Given the description of an element on the screen output the (x, y) to click on. 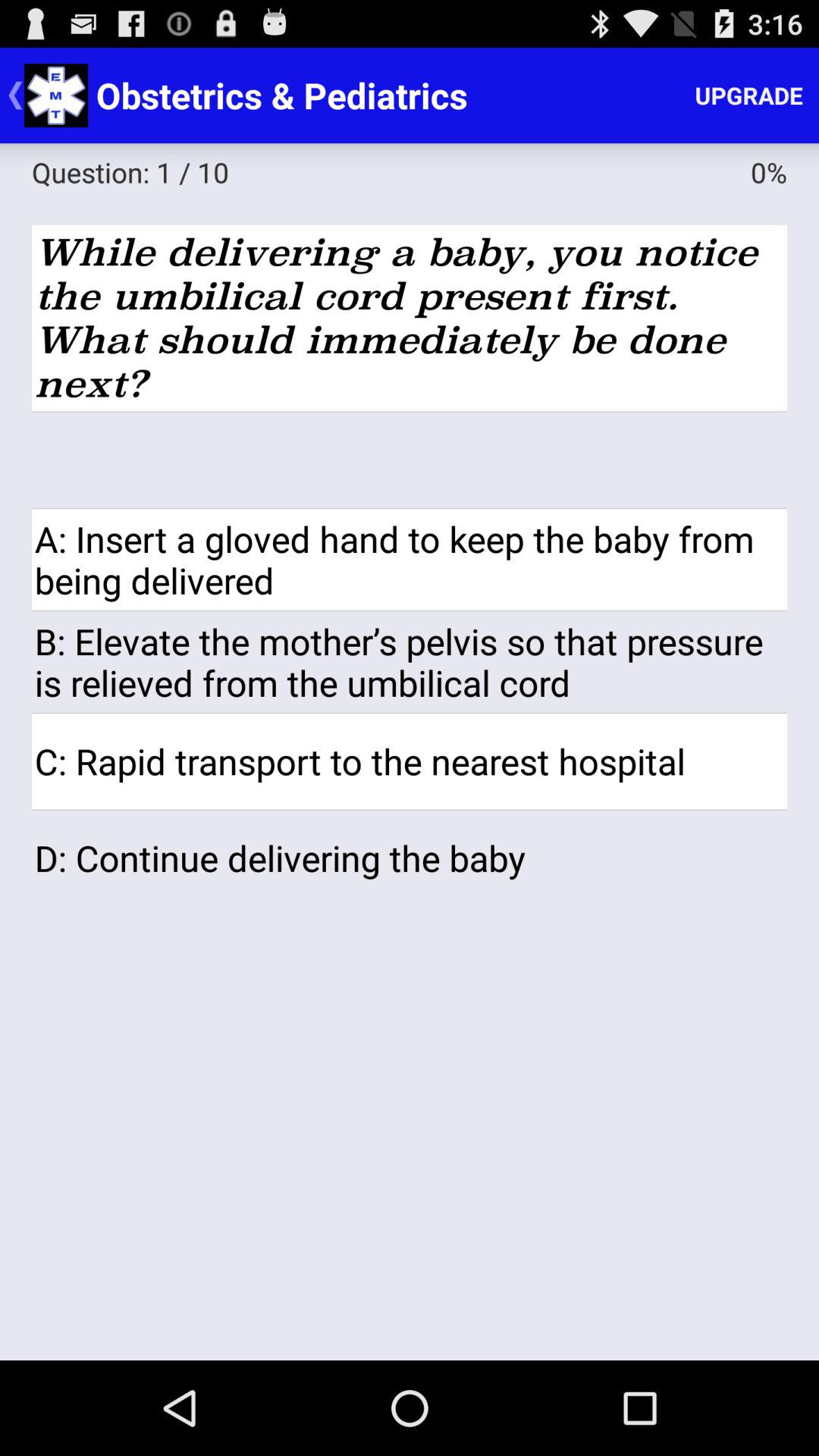
swipe until the while delivering a app (409, 318)
